Given the description of an element on the screen output the (x, y) to click on. 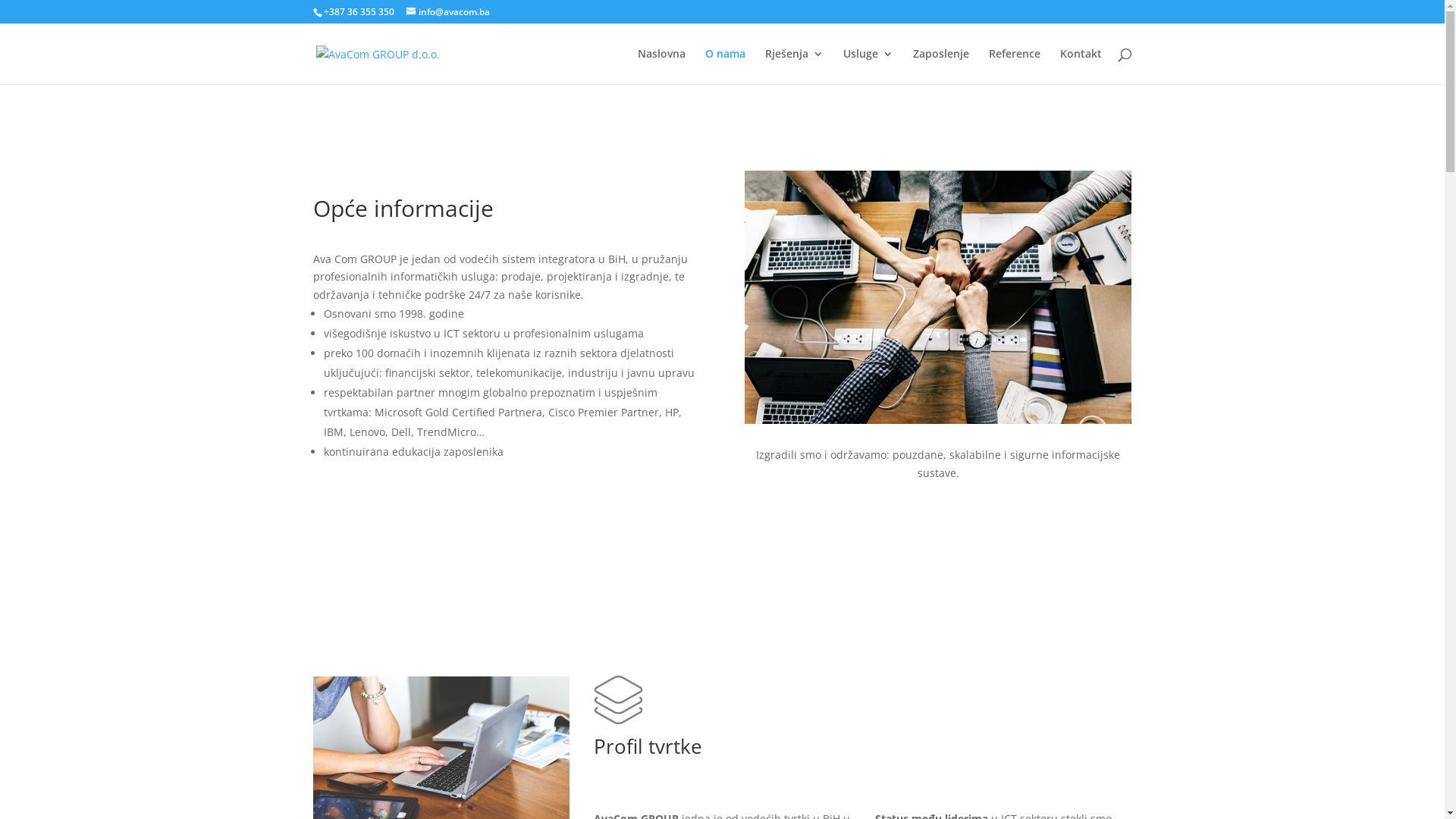
O nama Element type: text (725, 66)
Reference Element type: text (1014, 66)
Naslovna Element type: text (660, 66)
Usluge Element type: text (868, 66)
Zaposlenje Element type: text (941, 66)
info@avacom.ba Element type: text (447, 11)
Kontakt Element type: text (1080, 66)
